Given the description of an element on the screen output the (x, y) to click on. 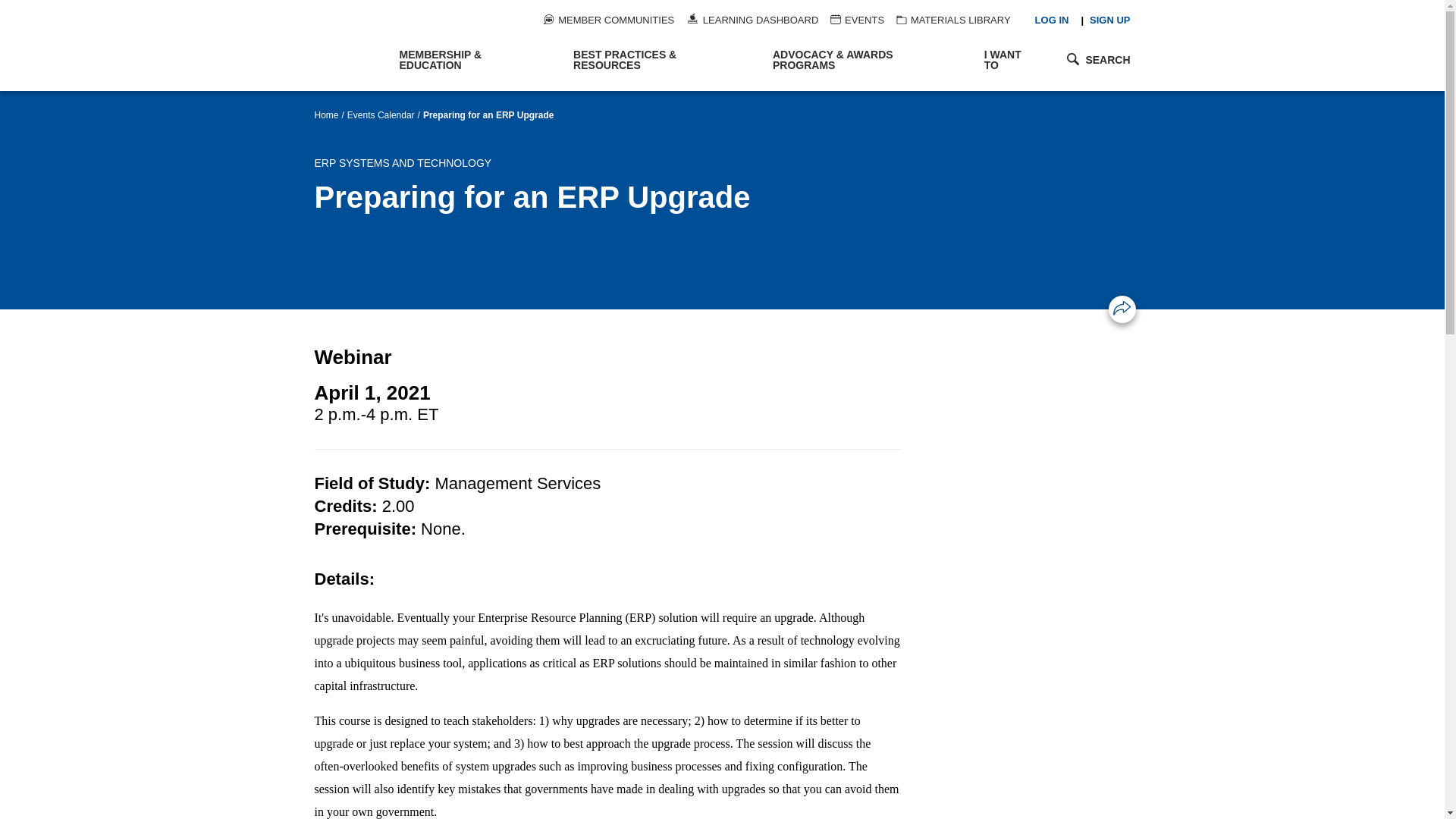
EVENTS (856, 19)
SIGN UP (1109, 19)
Share this page (1122, 308)
Home (349, 45)
LEARNING DASHBOARD (751, 19)
MEMBER COMMUNITIES (608, 19)
LOG IN (1051, 19)
MATERIALS LIBRARY (953, 19)
